Given the description of an element on the screen output the (x, y) to click on. 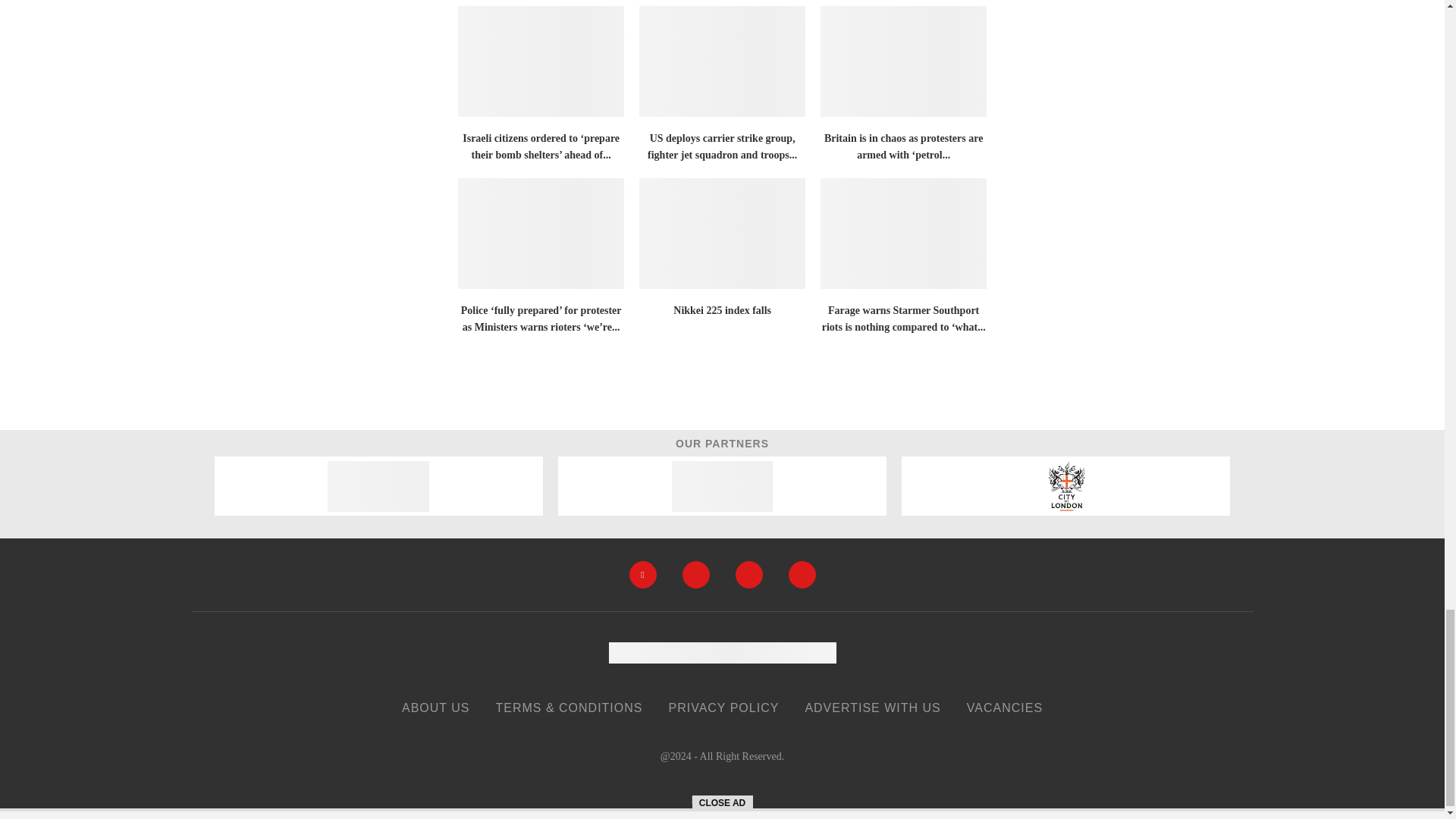
Nikkei 225 index falls (722, 233)
